Given the description of an element on the screen output the (x, y) to click on. 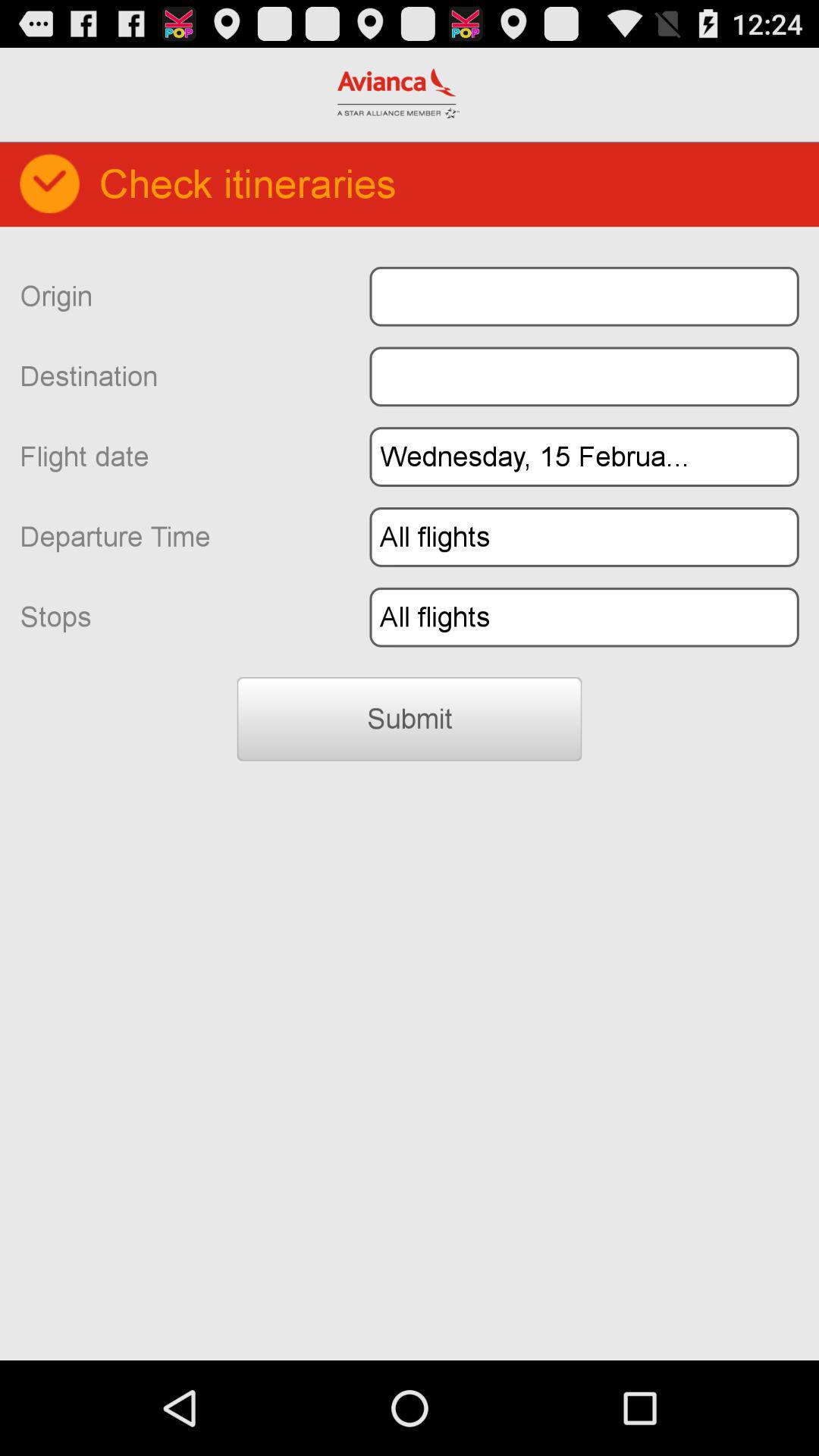
press wednesday, 15 februa... (584, 456)
